Given the description of an element on the screen output the (x, y) to click on. 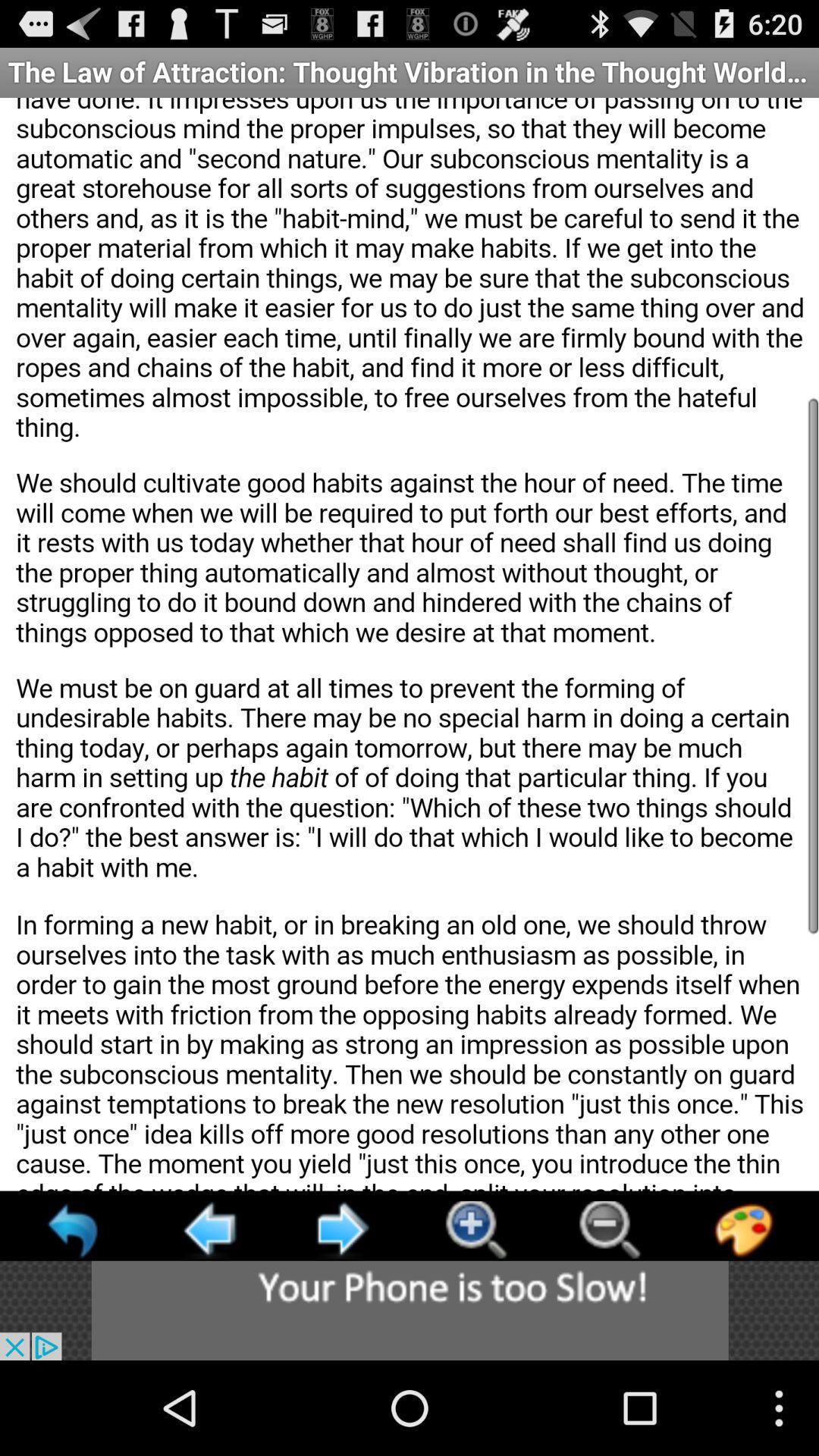
go forward (341, 1229)
